Given the description of an element on the screen output the (x, y) to click on. 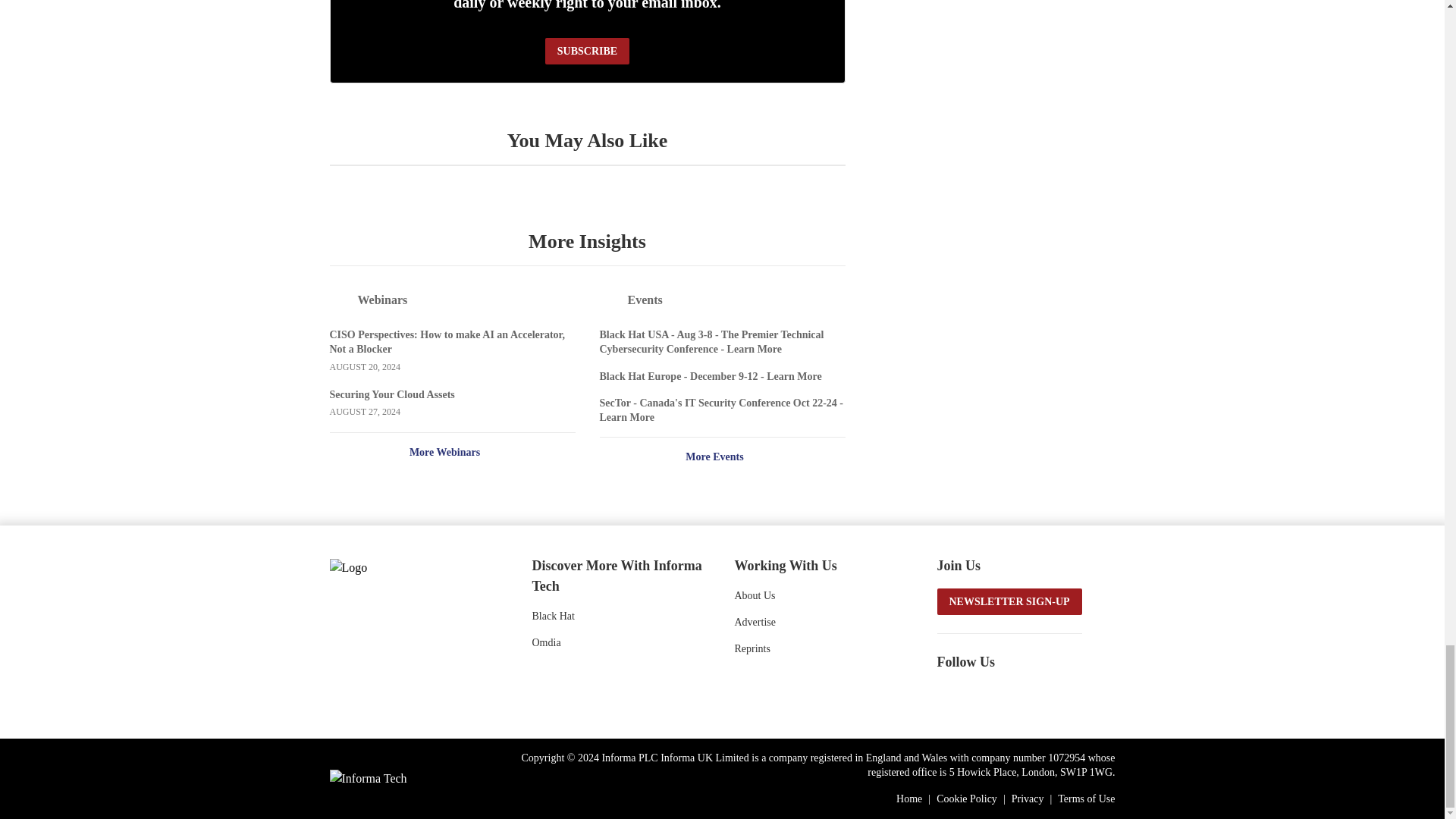
Logo (410, 566)
Informa Tech (367, 778)
